Given the description of an element on the screen output the (x, y) to click on. 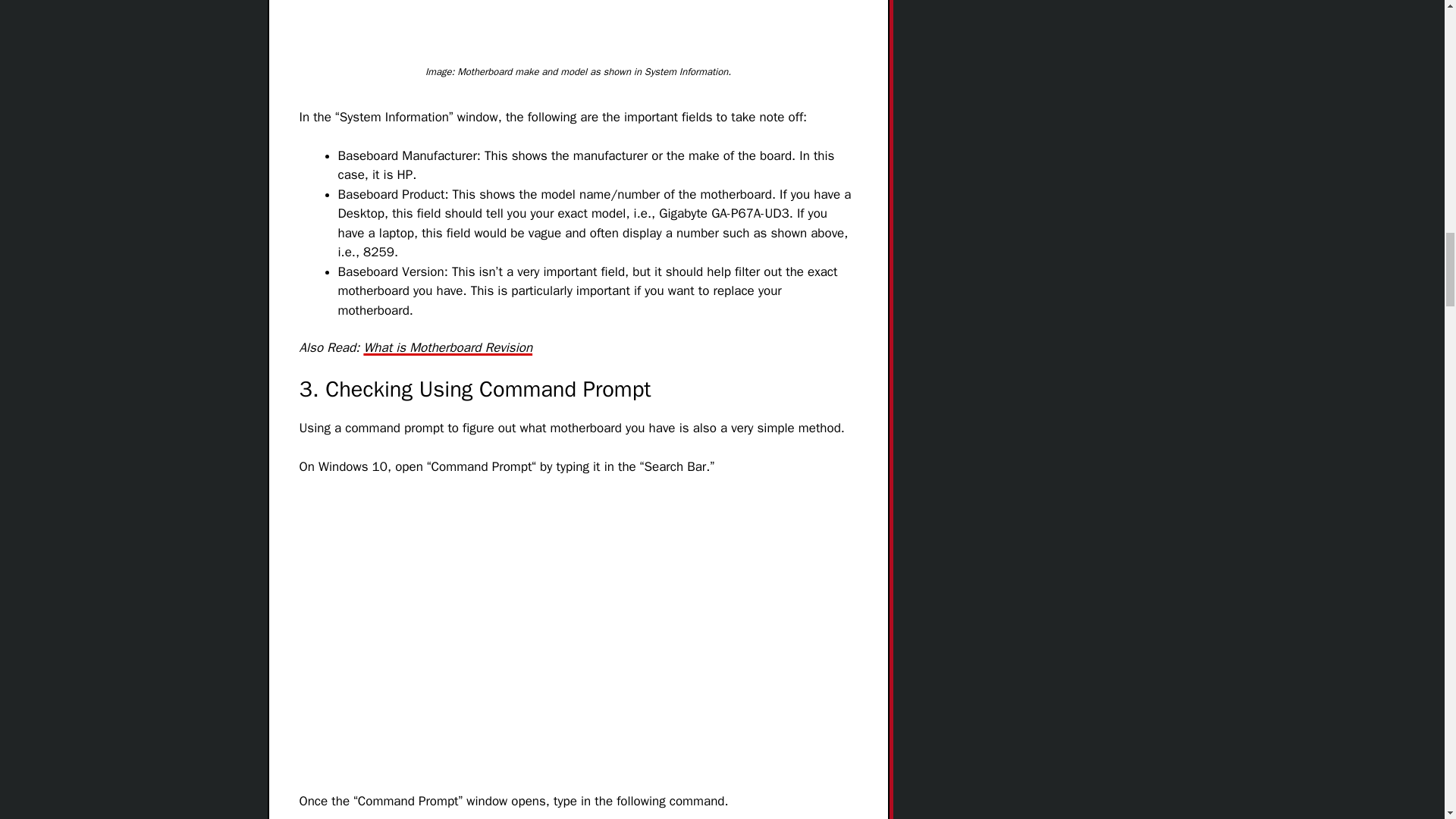
What is Motherboard Revision (447, 347)
